Given the description of an element on the screen output the (x, y) to click on. 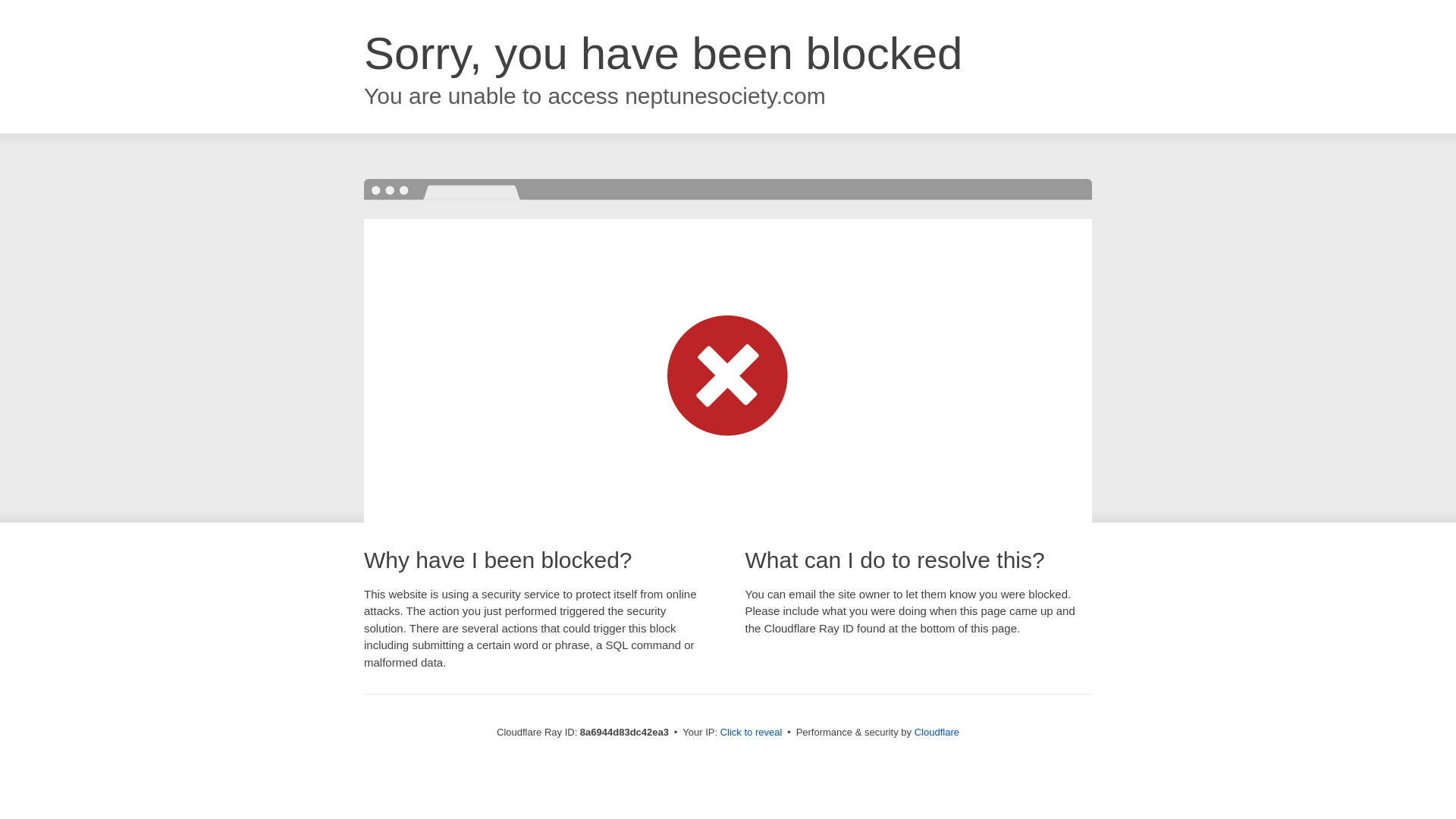
Cloudflare (936, 731)
Click to reveal (751, 732)
